Given the description of an element on the screen output the (x, y) to click on. 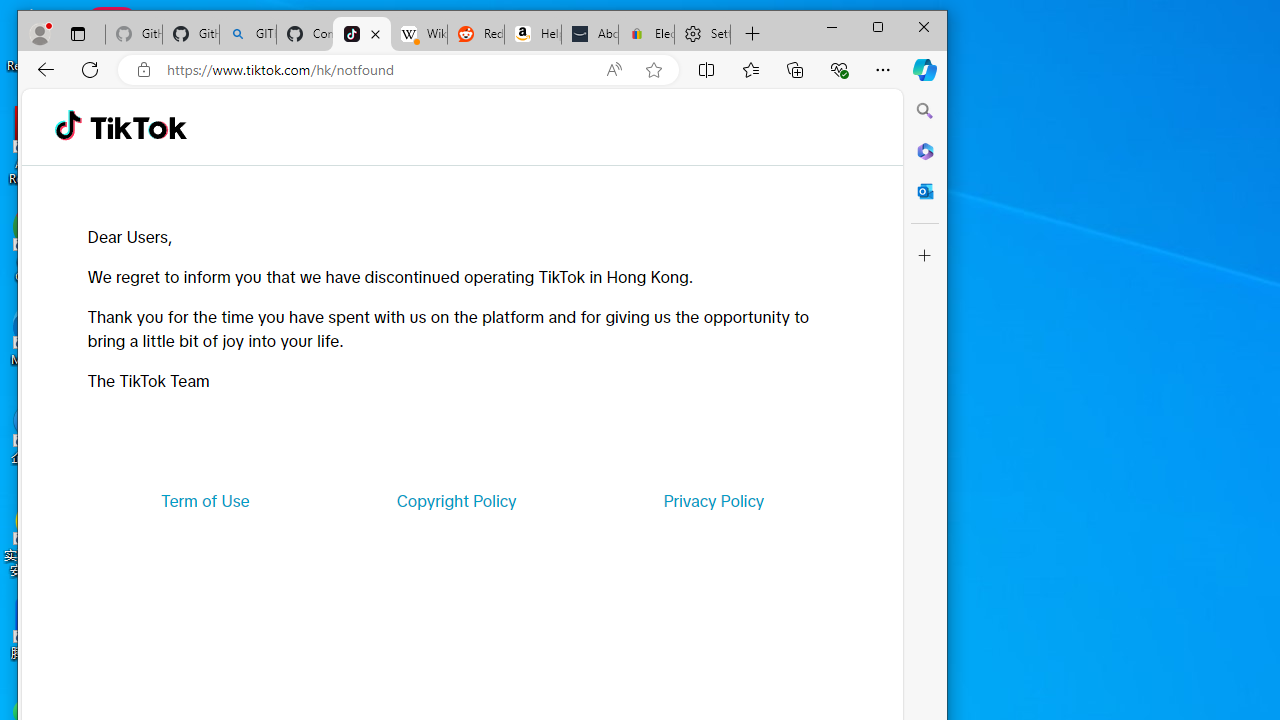
Maximize (878, 26)
Electronics, Cars, Fashion, Collectibles & More | eBay (646, 34)
